Given the description of an element on the screen output the (x, y) to click on. 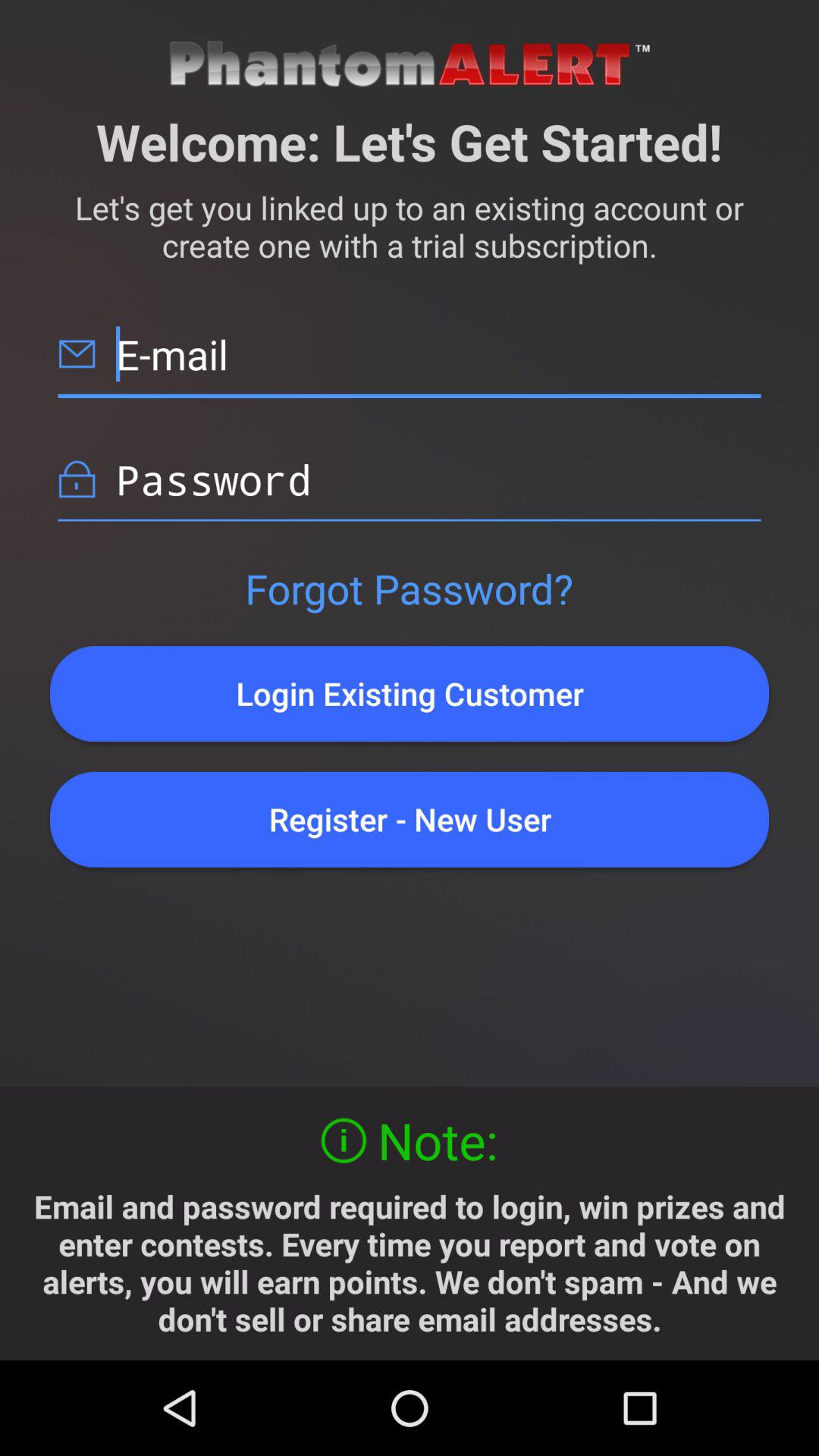
turn on button below the login existing customer (409, 819)
